Given the description of an element on the screen output the (x, y) to click on. 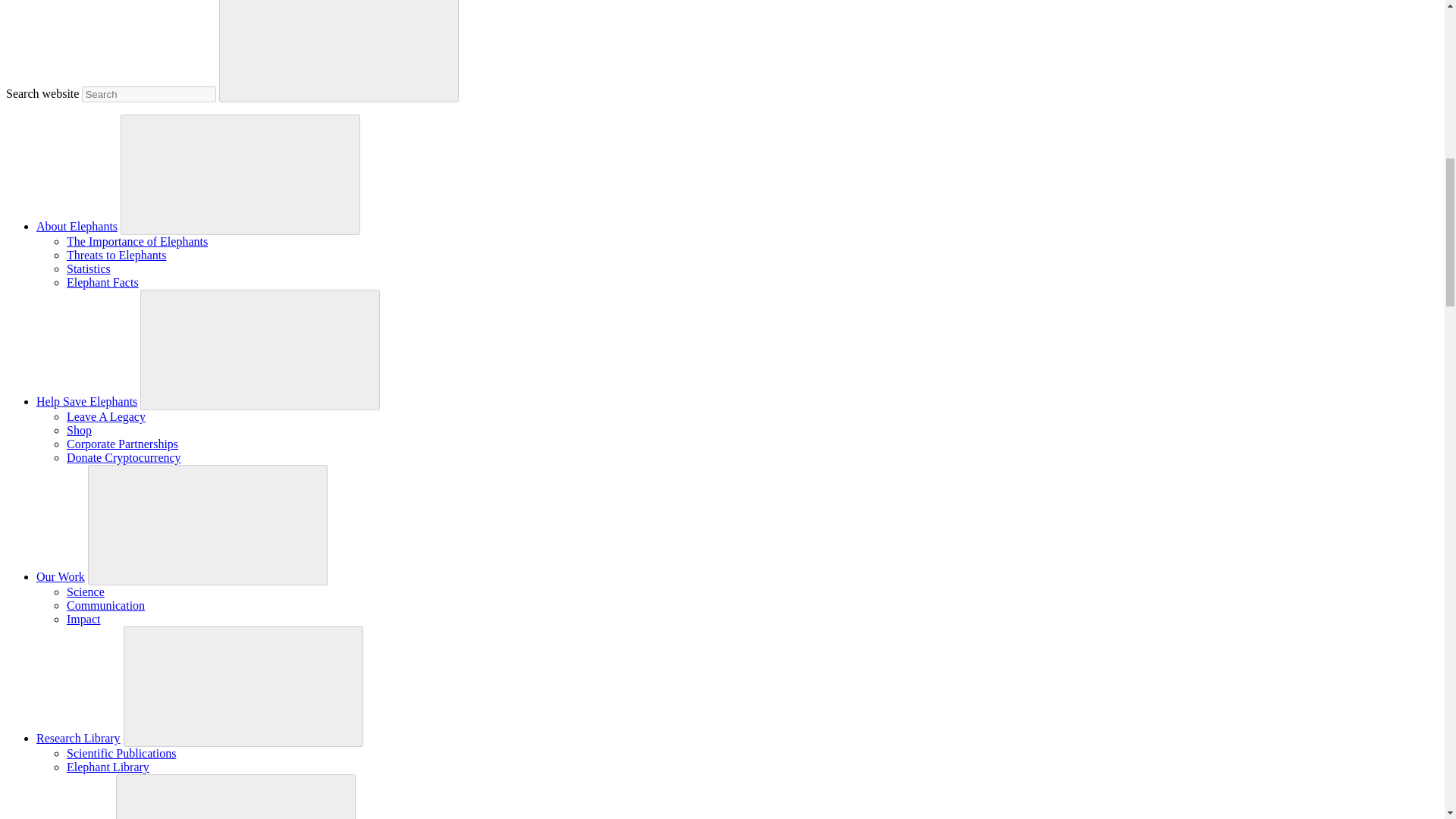
Expand dropdown (239, 173)
Expand dropdown (235, 797)
Expand dropdown (260, 348)
Expand dropdown (207, 523)
Search submit (338, 51)
Expand dropdown (242, 685)
